Given the description of an element on the screen output the (x, y) to click on. 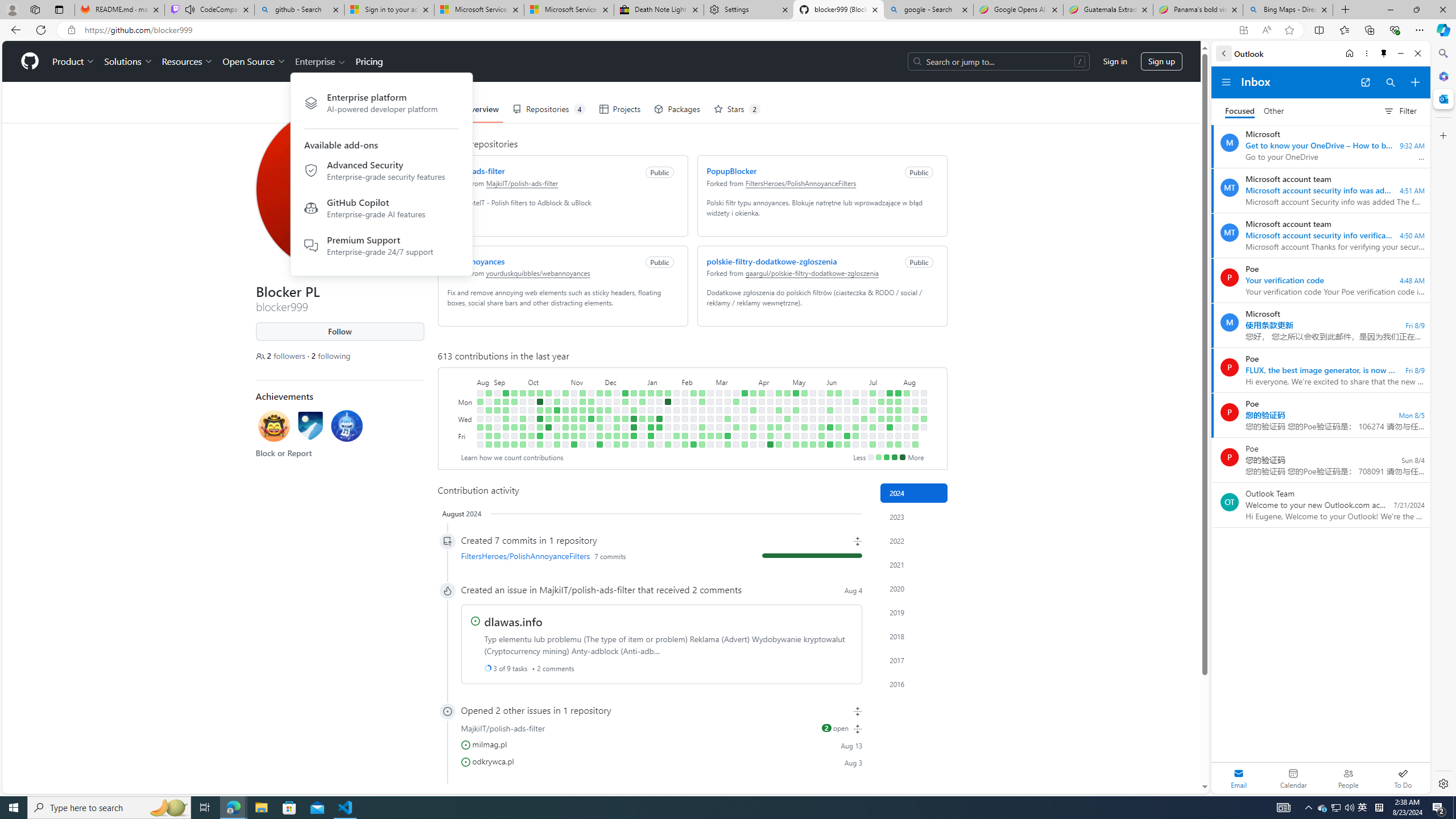
2 contributions on August 21st. (479, 401)
Contribution activity in 2020 (913, 588)
1 contribution on April 2nd. (753, 410)
2 contributions on November 3rd. (565, 435)
Achievement: Arctic Code Vault Contributor (310, 427)
4 contributions on September 30th. (522, 444)
5 contributions on September 28th. (522, 427)
4 contributions on October 23rd. (556, 401)
No contributions on May 27th. (821, 401)
1 contribution on May 7th. (795, 410)
No contributions on January 20th. (658, 444)
Microsoft Services Agreement (568, 9)
No contributions on March 3rd. (718, 392)
1 contribution on May 25th. (812, 444)
No contributions on August 20th. (923, 410)
